Given the description of an element on the screen output the (x, y) to click on. 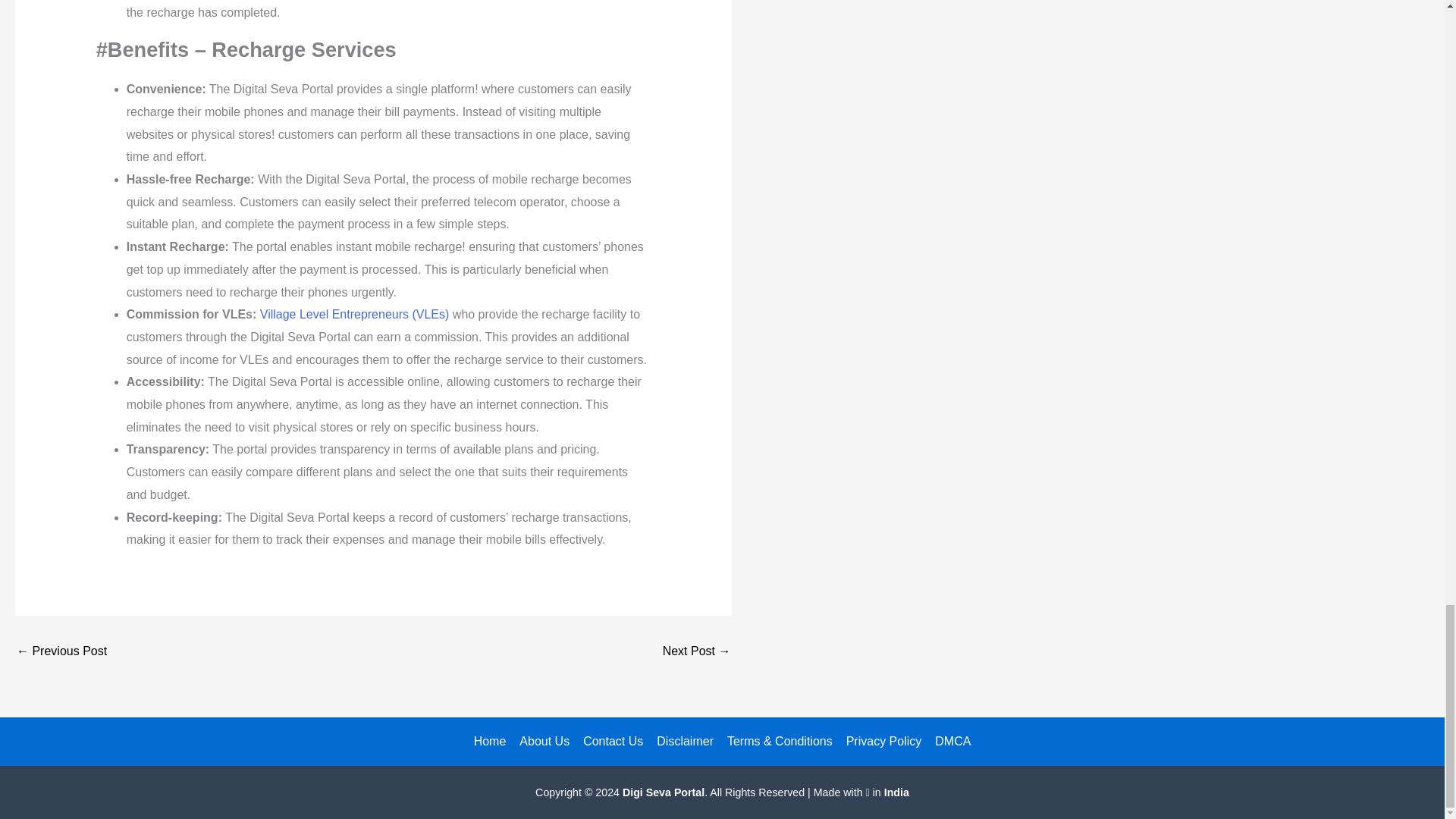
Privacy Policy (884, 741)
WhatsApp Bulk Message Sender Software (696, 651)
Contact Us (612, 741)
About Us (544, 741)
Disclaimer (684, 741)
Home (490, 741)
